Given the description of an element on the screen output the (x, y) to click on. 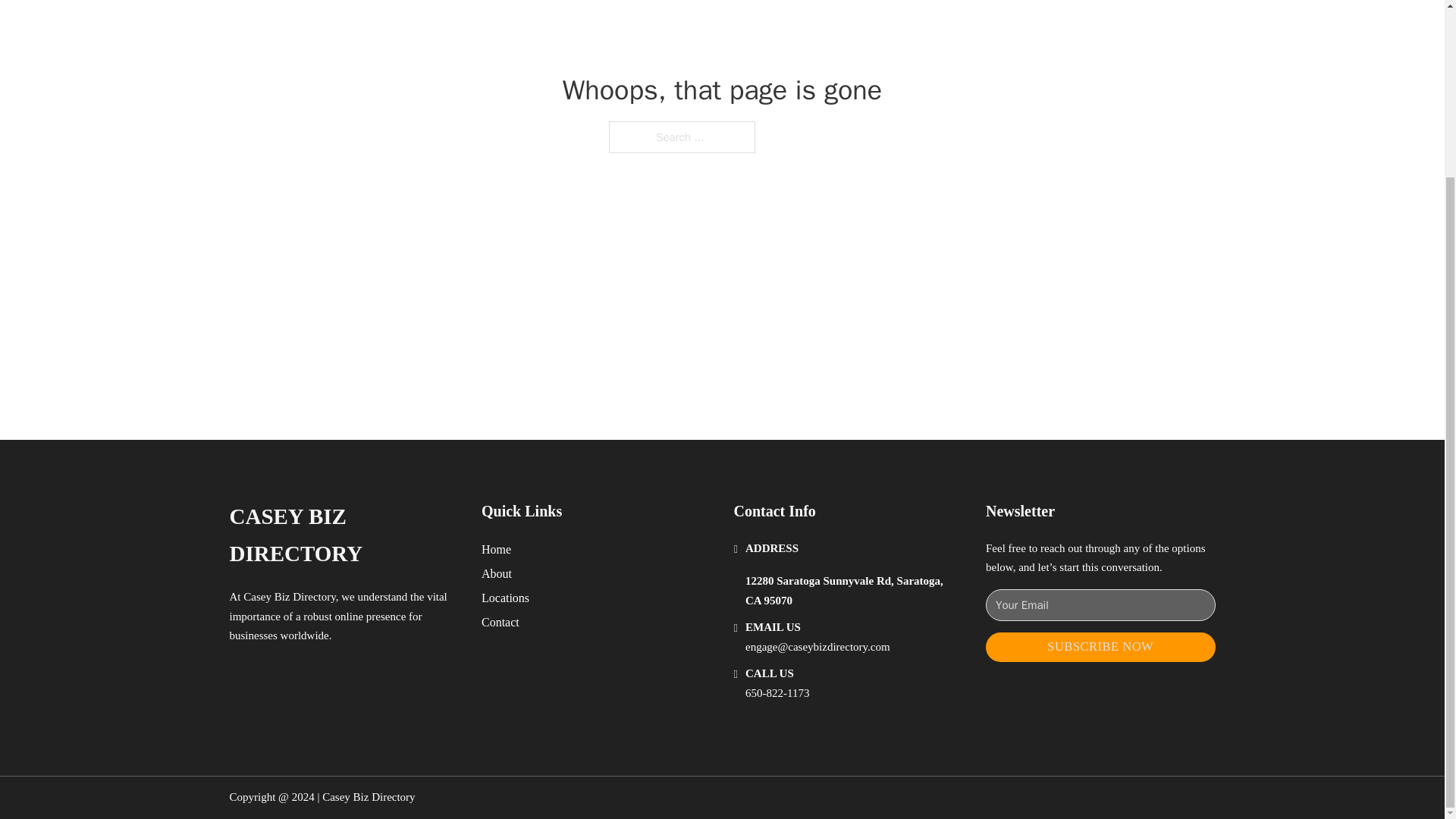
Locations (505, 598)
CASEY BIZ DIRECTORY (343, 535)
SUBSCRIBE NOW (1100, 646)
About (496, 573)
Contact (500, 621)
650-822-1173 (777, 693)
Home (496, 548)
